Given the description of an element on the screen output the (x, y) to click on. 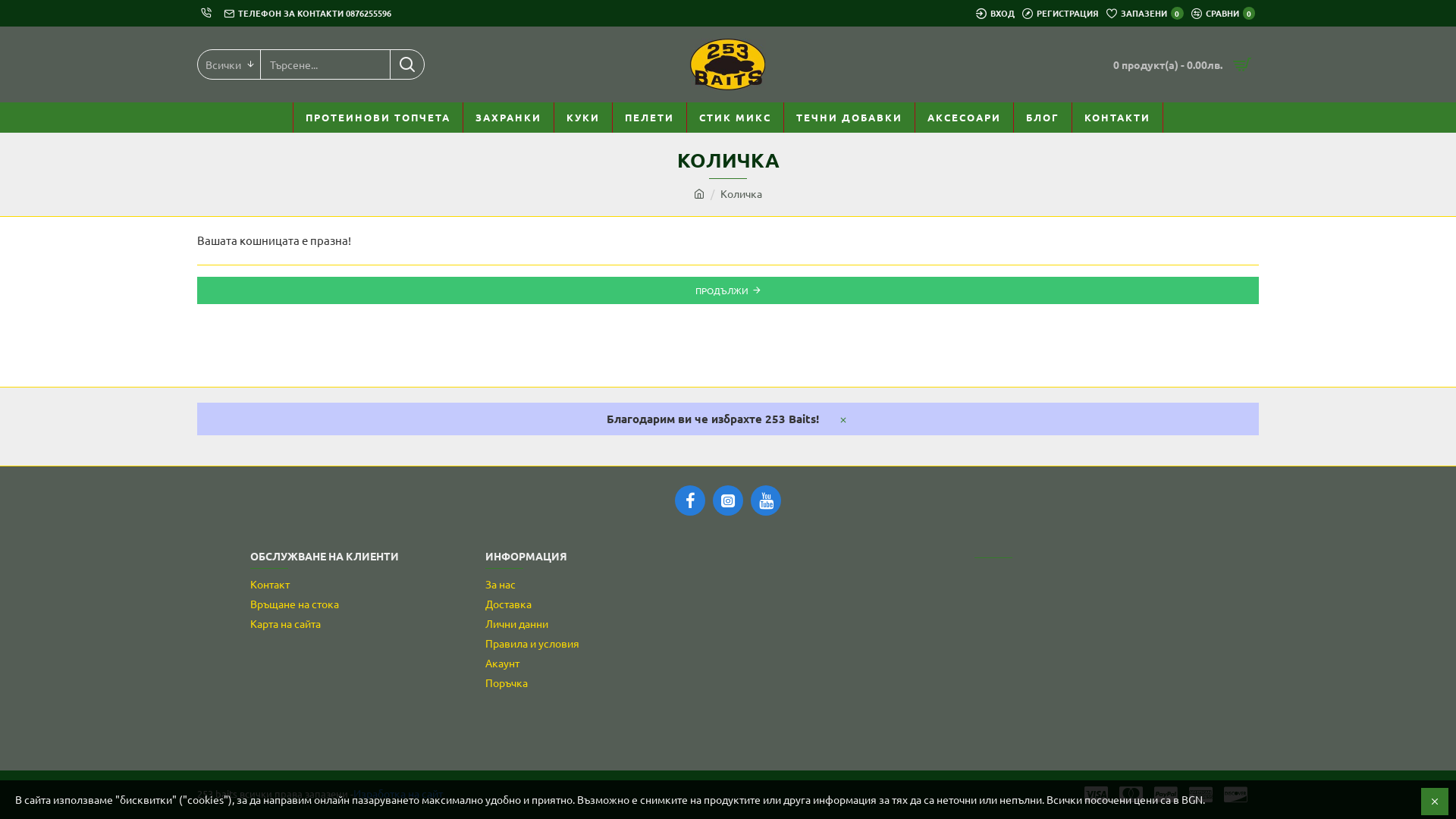
253 Baits Element type: hover (727, 64)
